Given the description of an element on the screen output the (x, y) to click on. 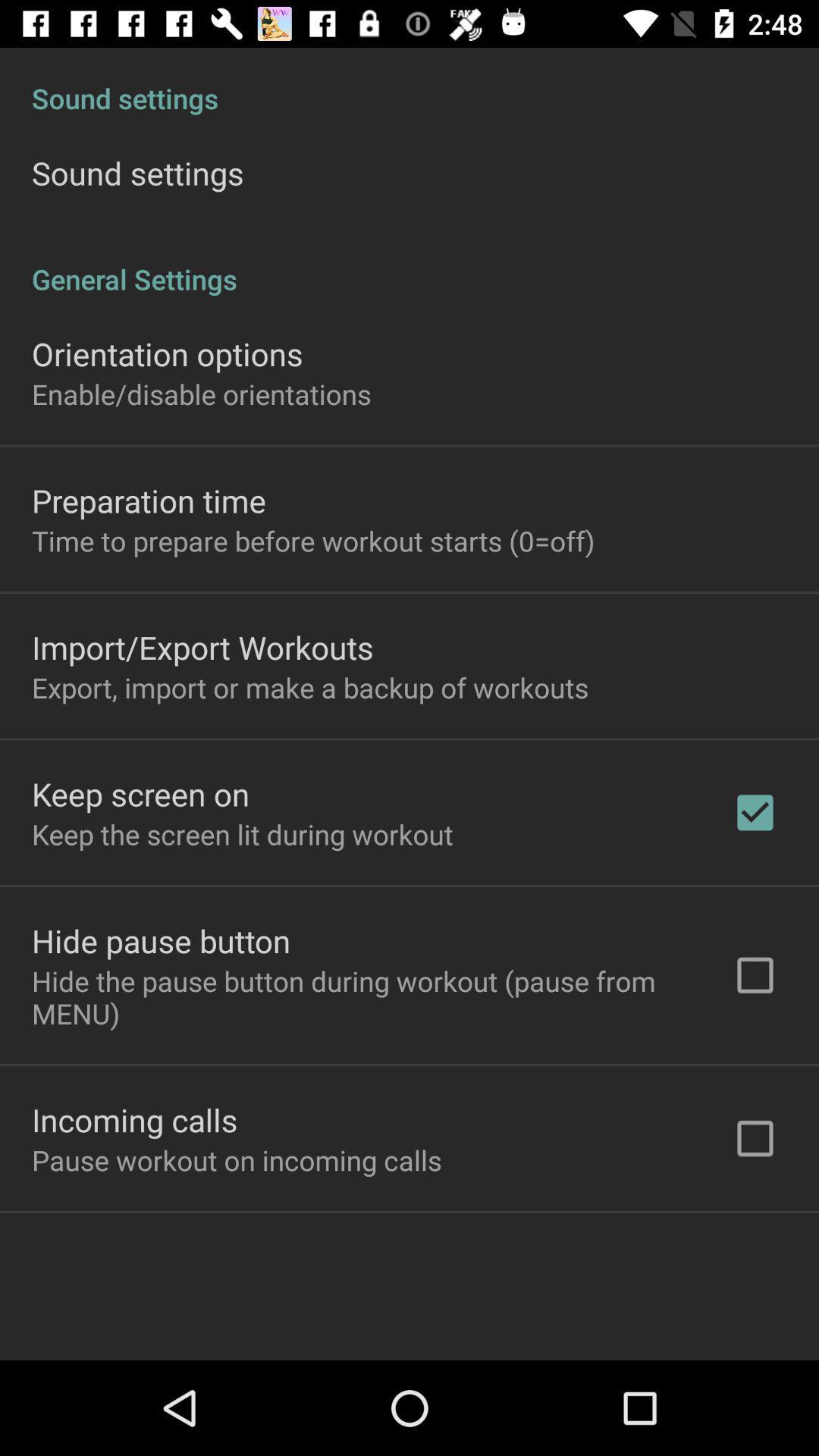
choose the icon below enable/disable orientations icon (148, 500)
